Given the description of an element on the screen output the (x, y) to click on. 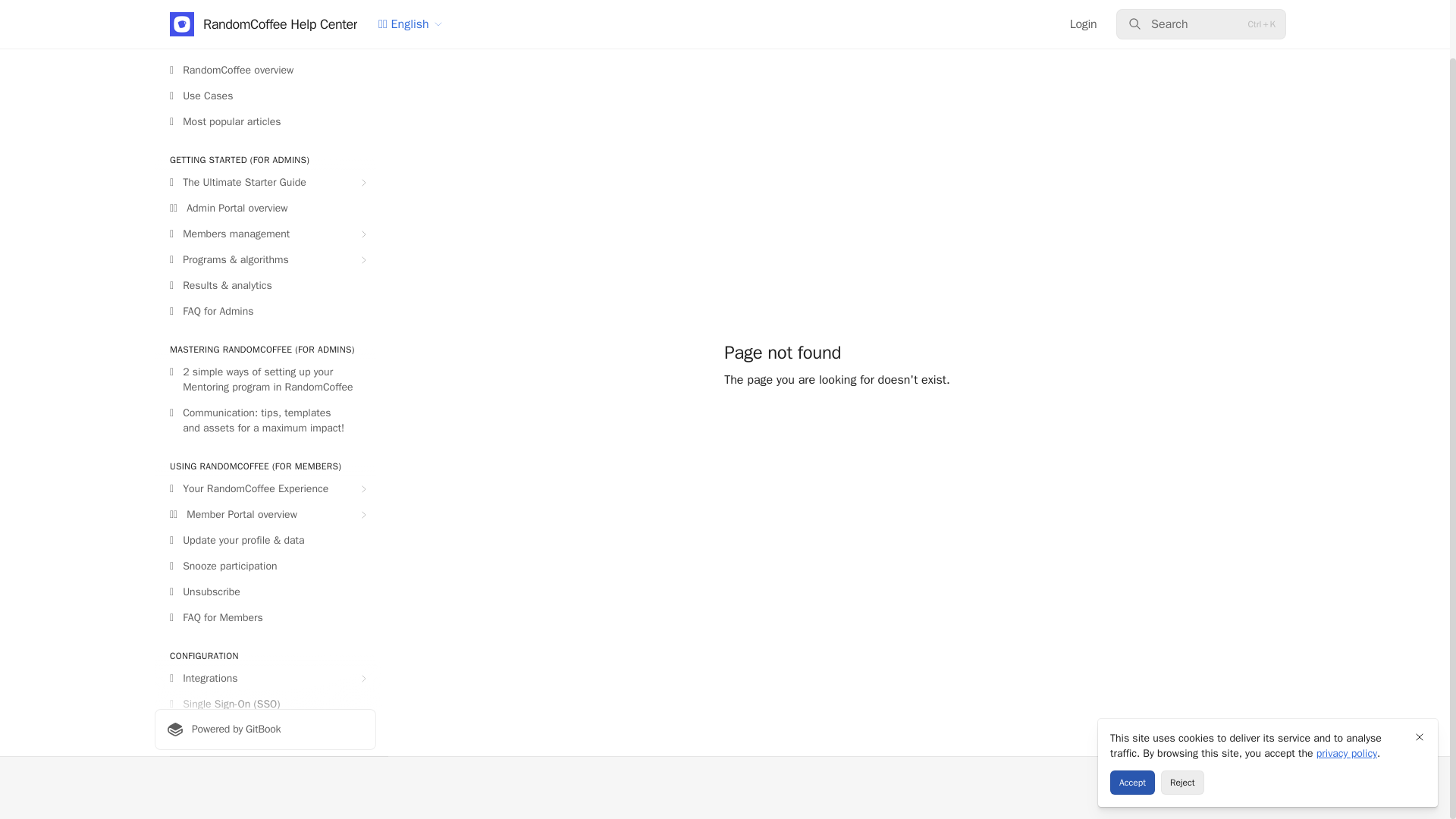
Close (1419, 674)
